Given the description of an element on the screen output the (x, y) to click on. 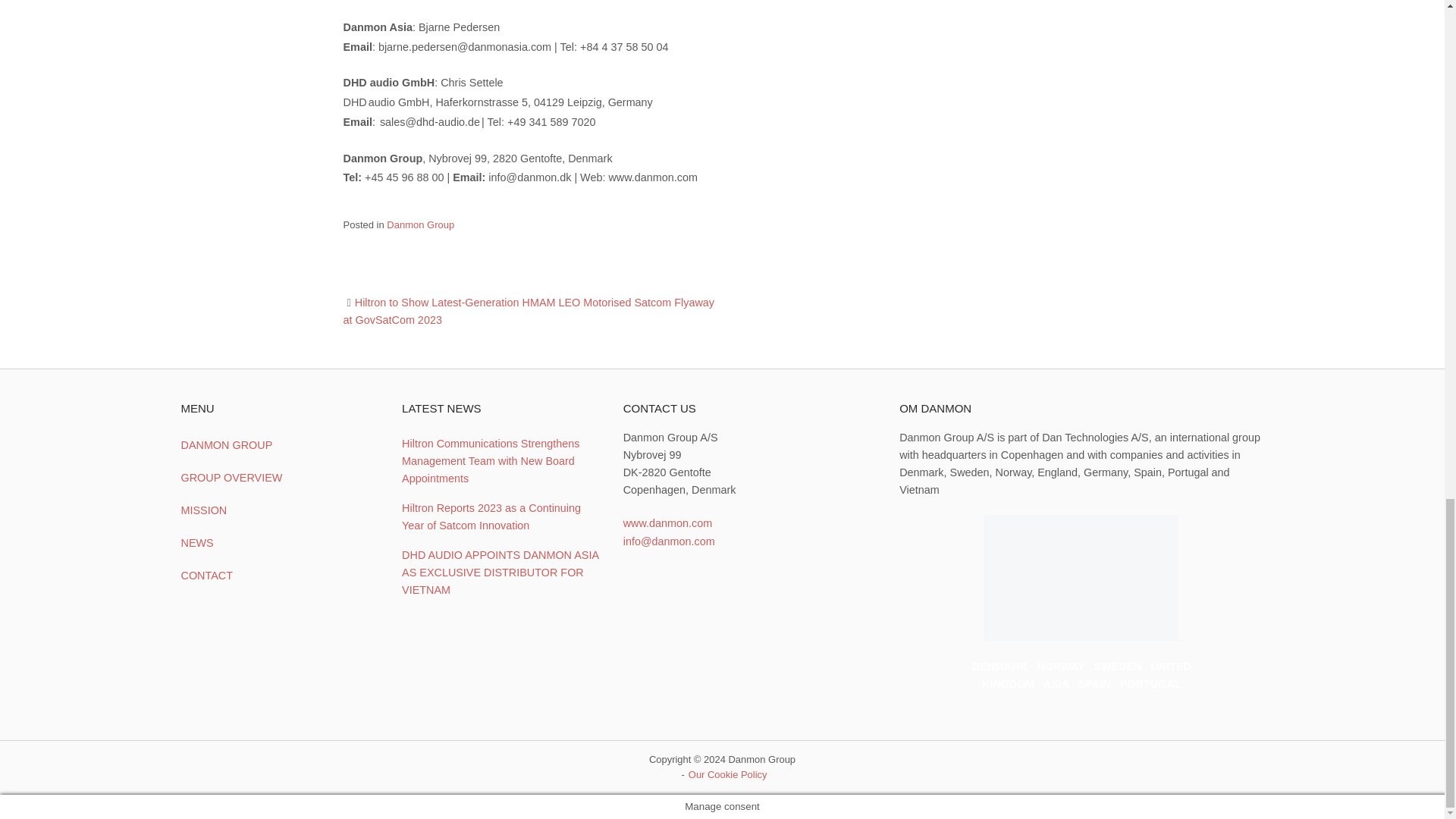
ASIA (1055, 684)
SPAIN (1094, 684)
MISSION (279, 510)
www.danmon.com (668, 522)
NEWS (279, 543)
NORWAY (1060, 666)
SWEDEN (1117, 666)
UNITED KINGDOM (1086, 675)
DANMON GROUP (279, 445)
DENMARK (999, 666)
Danmon Group (420, 224)
GROUP OVERVIEW (279, 477)
